Given the description of an element on the screen output the (x, y) to click on. 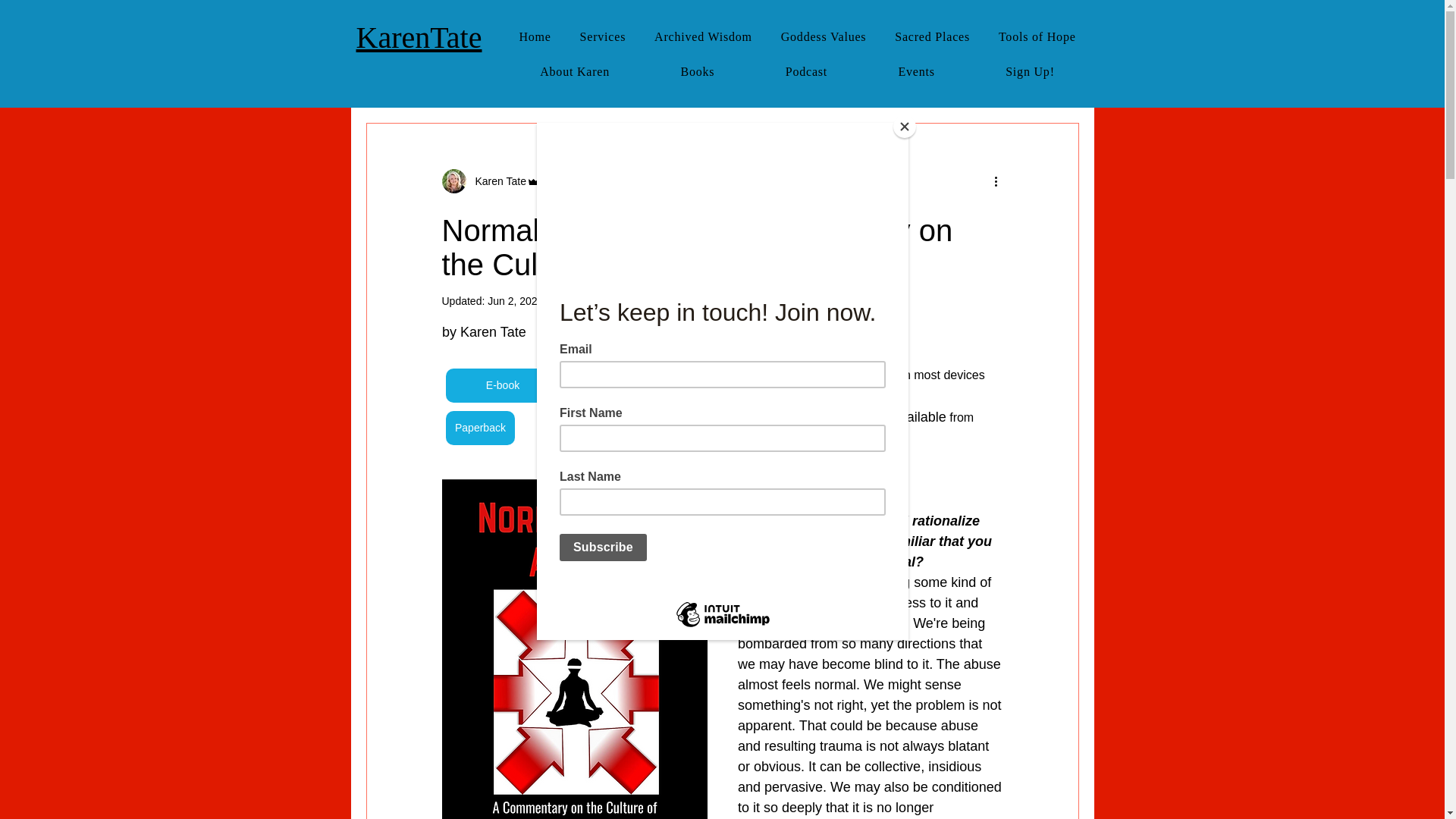
Goddess Values (823, 36)
Sacred Places (932, 36)
Amazon.com (857, 374)
Amazon.com (583, 437)
Archived Wisdom (702, 36)
Paperback (480, 428)
Podcast (806, 71)
Books (696, 71)
Mar 4, 2023 (582, 180)
Jun 2, 2023 (515, 300)
Sign Up! (1029, 71)
E-book (502, 385)
About Karen (575, 71)
Home (535, 36)
Karen Tate (495, 180)
